Given the description of an element on the screen output the (x, y) to click on. 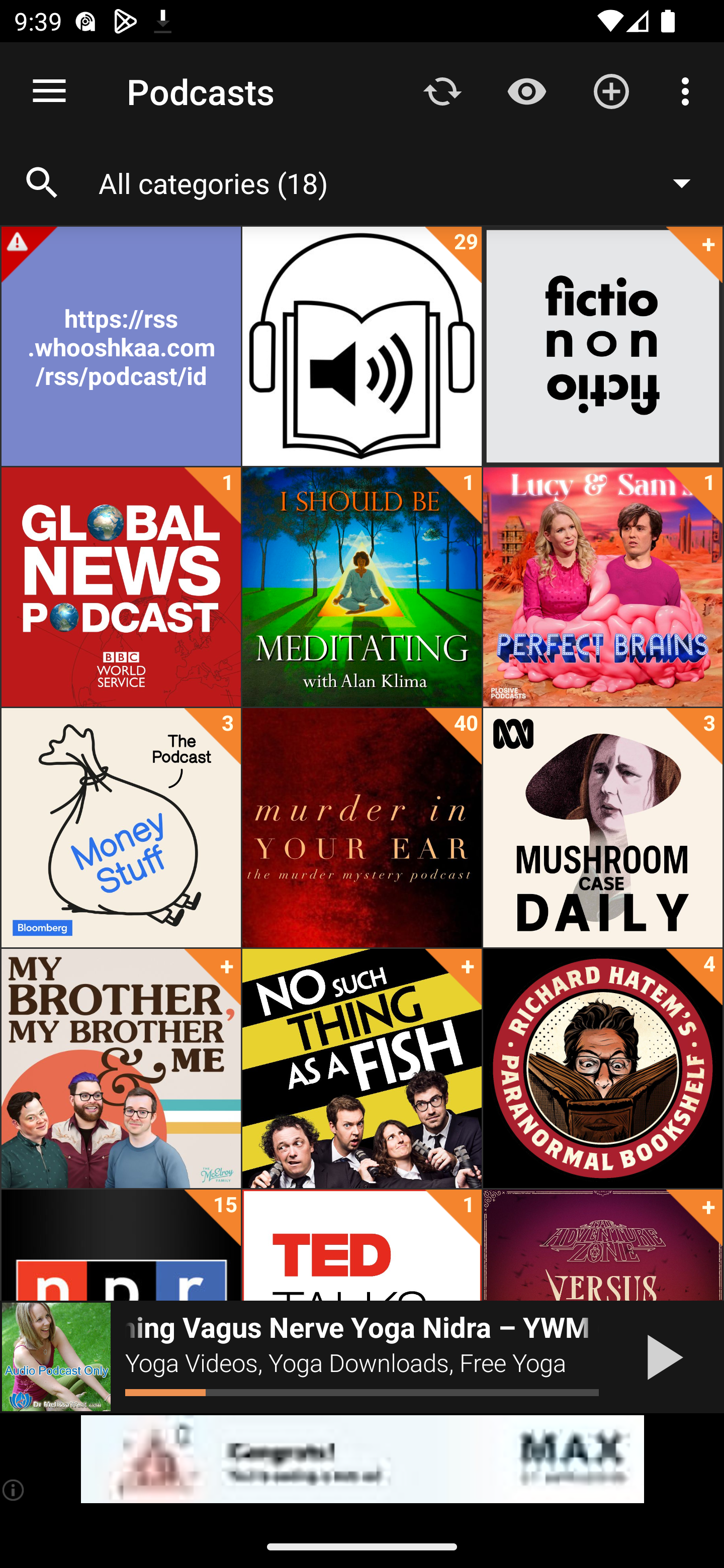
Open navigation sidebar (49, 91)
Update (442, 90)
Show / Hide played content (526, 90)
Add new Podcast (611, 90)
More options (688, 90)
Search (42, 183)
All categories (18) (404, 182)
https://rss.whooshkaa.com/rss/podcast/id/5884 (121, 346)
Audiobooks 29 (361, 346)
fiction/non/fiction + (602, 346)
Global News Podcast 1 (121, 587)
Lucy & Sam's Perfect Brains 1 (602, 587)
Money Stuff: The Podcast 3 (121, 827)
Murder In Your Ear-The Murder Mystery Podcast 40 (361, 827)
Mushroom Case Daily 3 (602, 827)
My Brother, My Brother And Me + (121, 1068)
No Such Thing As A Fish + (361, 1068)
Richard Hatem's Paranormal Bookshelf 4 (602, 1068)
Play / Pause (660, 1356)
app-monetization (362, 1459)
(i) (14, 1489)
